Given the description of an element on the screen output the (x, y) to click on. 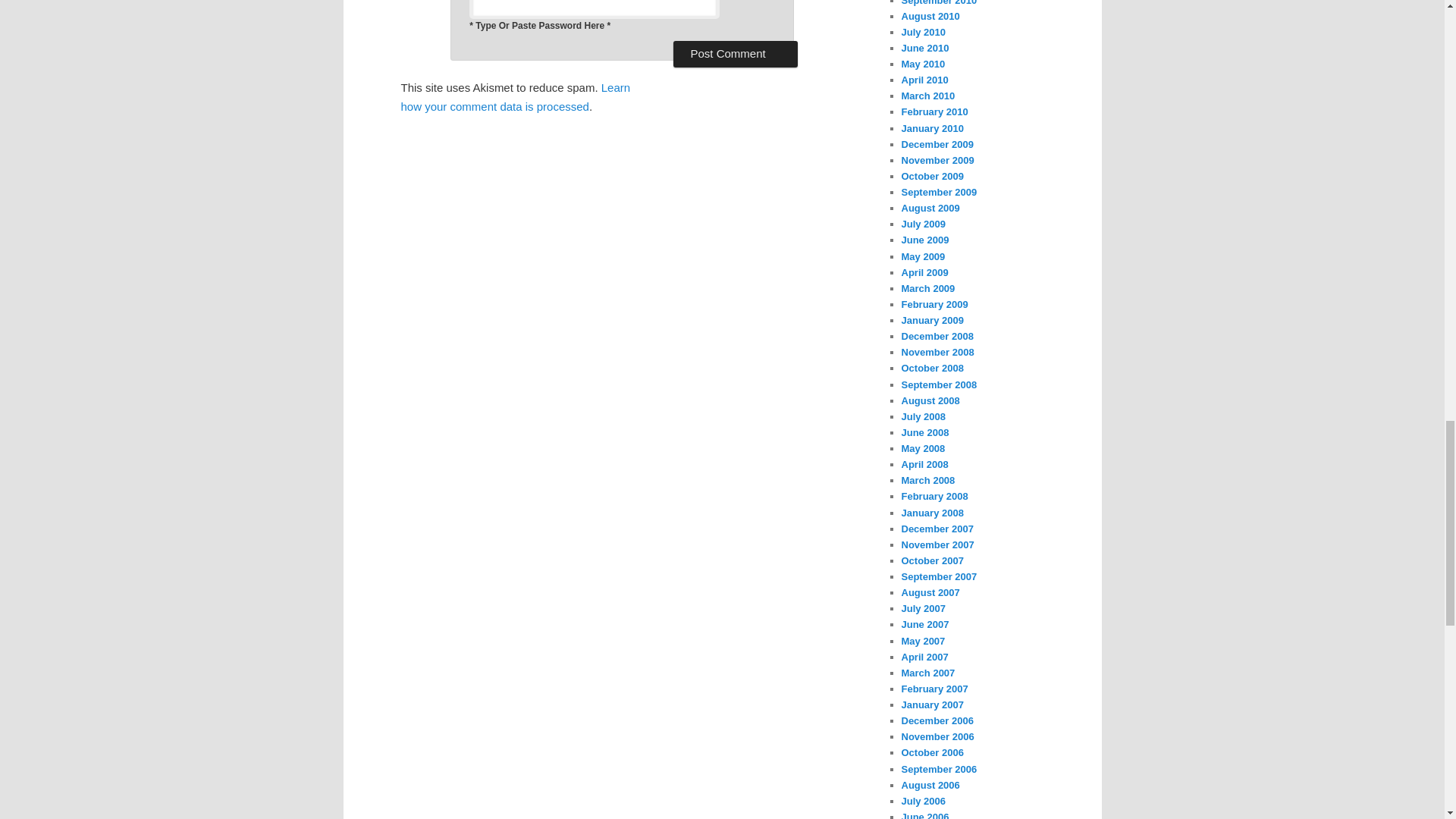
Post Comment (734, 53)
